Given the description of an element on the screen output the (x, y) to click on. 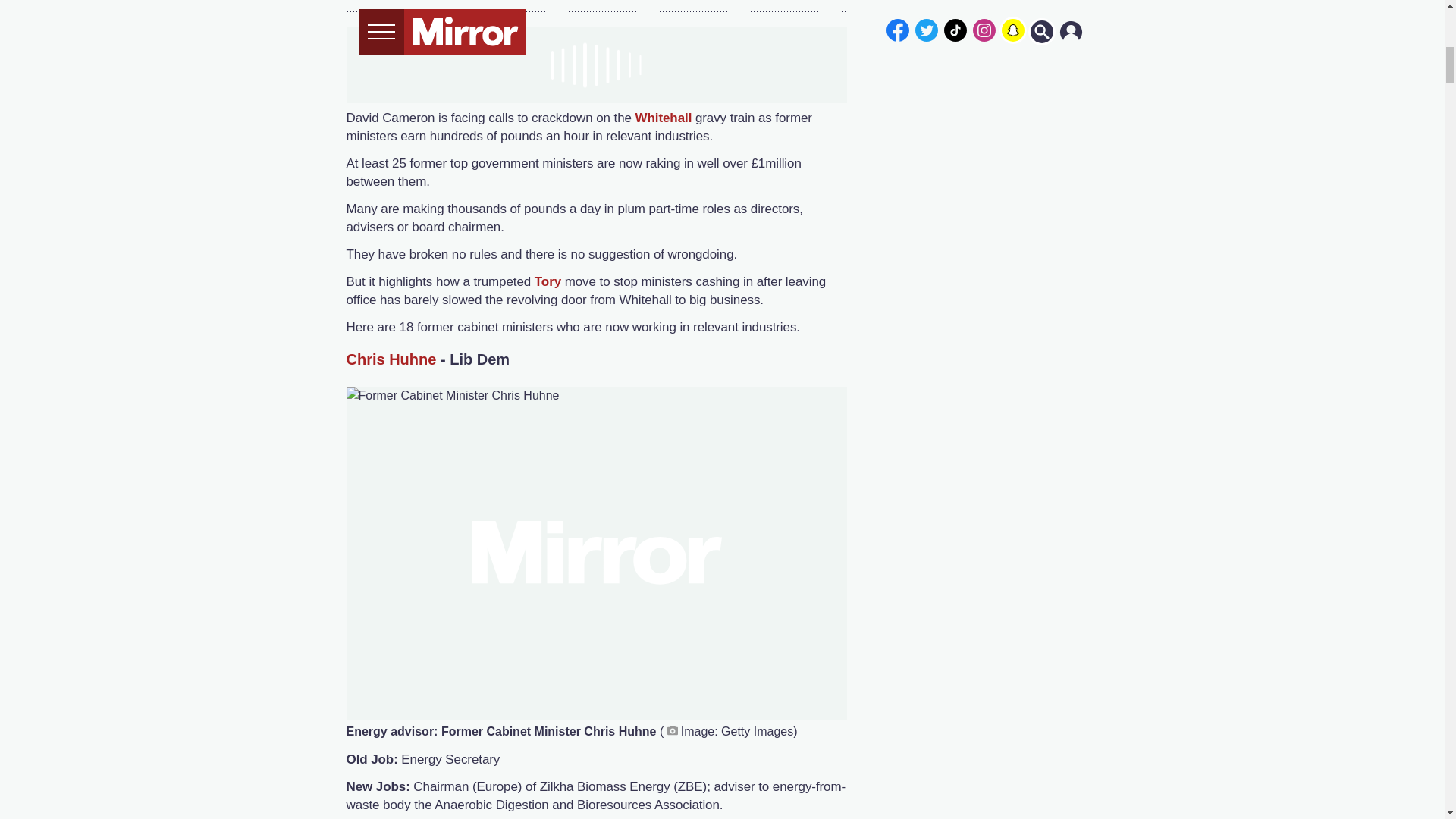
Chris Huhne (390, 359)
Tory (549, 281)
Whitehall (664, 117)
